Given the description of an element on the screen output the (x, y) to click on. 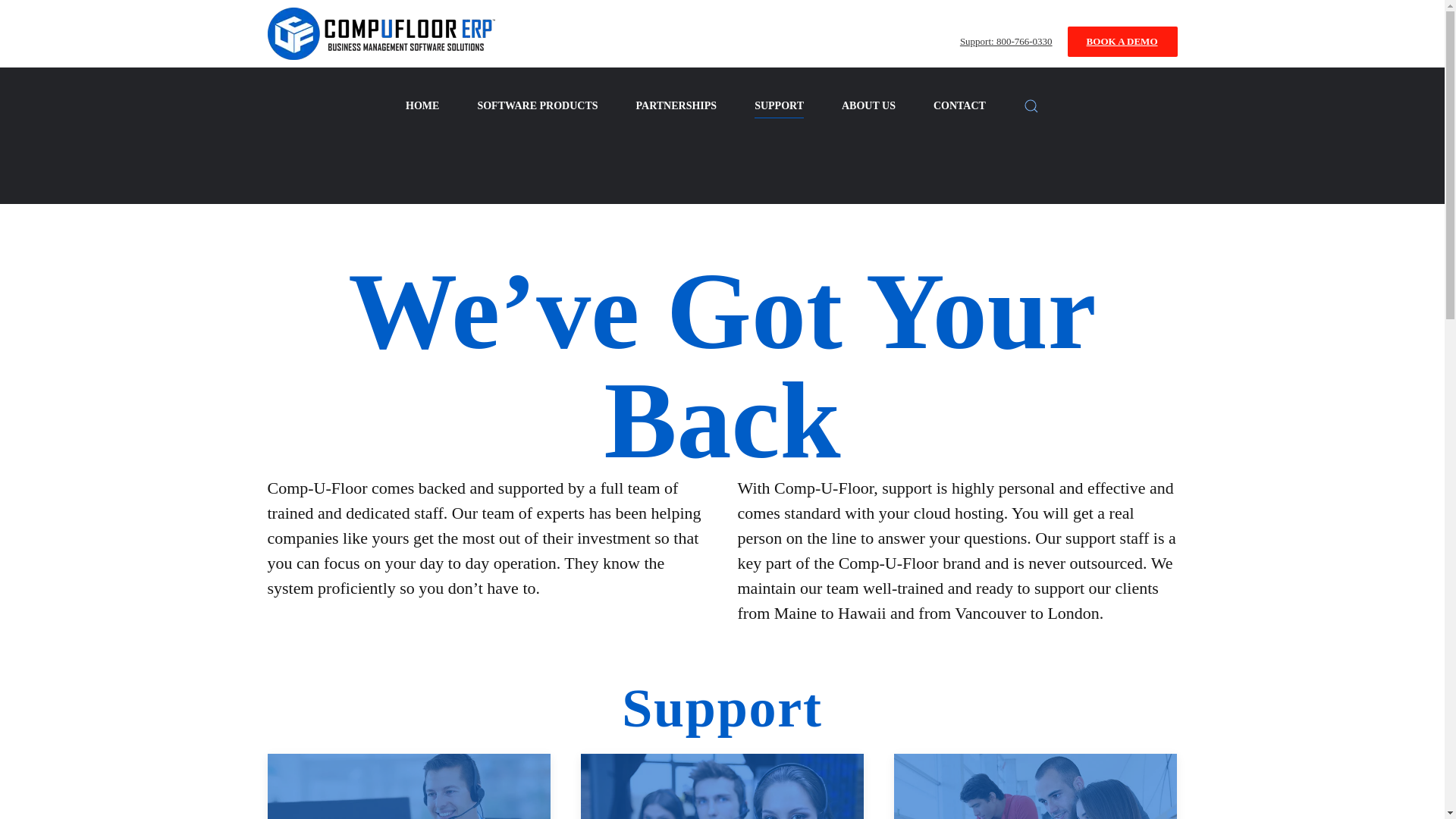
HOME (422, 106)
SOFTWARE PRODUCTS (536, 106)
Support: 800-766-0330 (1005, 41)
BOOK A DEMO (1121, 41)
